Given the description of an element on the screen output the (x, y) to click on. 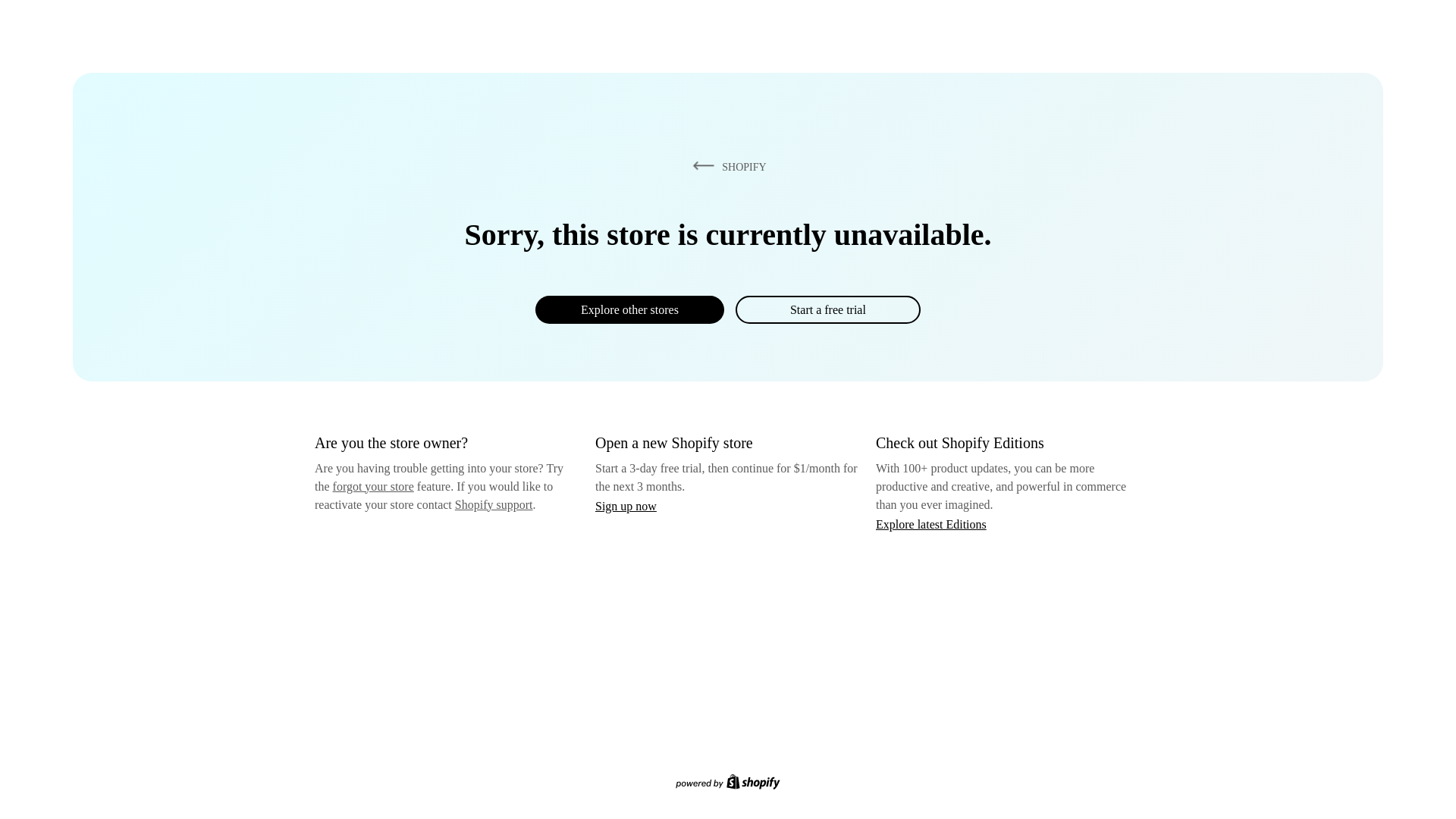
Start a free trial (827, 309)
Shopify support (493, 504)
SHOPIFY (726, 166)
Explore other stores (629, 309)
forgot your store (373, 486)
Explore latest Editions (931, 523)
Sign up now (625, 505)
